Given the description of an element on the screen output the (x, y) to click on. 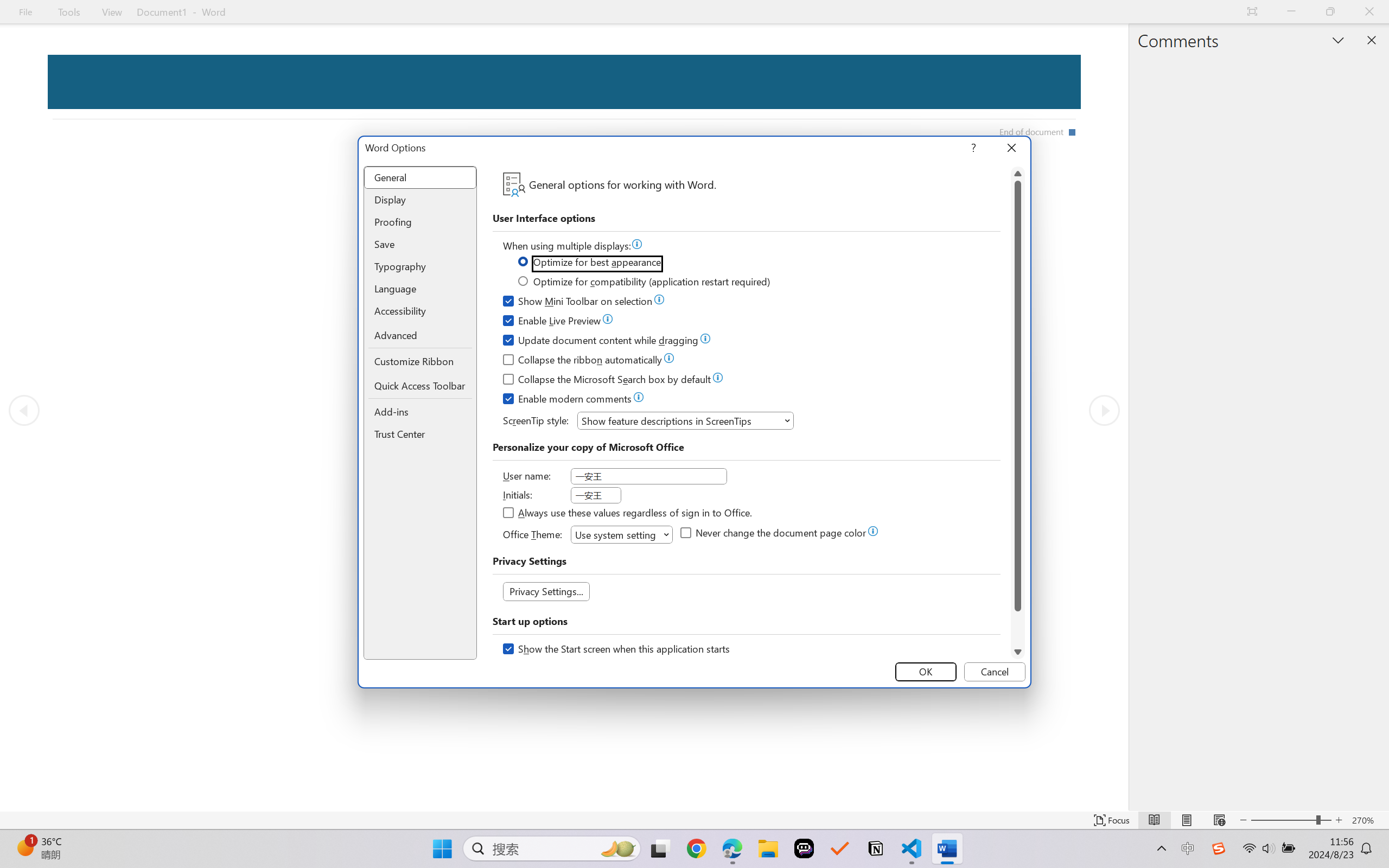
Text Size (1291, 819)
Enable modern comments (567, 400)
Accessibility (419, 311)
Initials (595, 494)
